Given the description of an element on the screen output the (x, y) to click on. 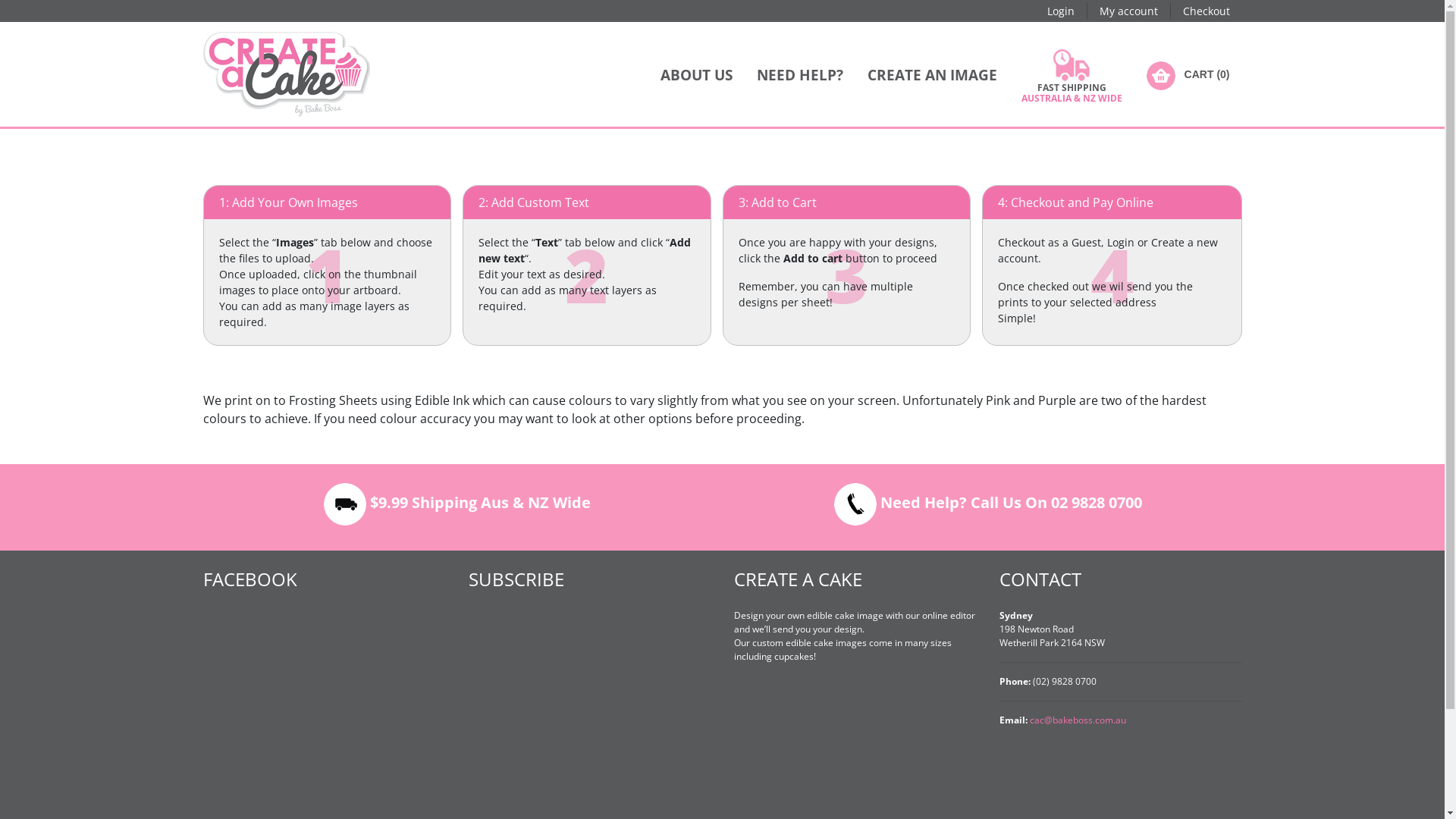
ABOUT US Element type: text (696, 74)
My account Element type: text (1128, 10)
FAST SHIPPING
AUSTRALIA & NZ WIDE Element type: text (1071, 74)
CART (0) Element type: text (1188, 74)
Checkout Element type: text (1206, 10)
cac@bakeboss.com.au Element type: text (1077, 719)
NEED HELP? Element type: text (799, 74)
CREATE AN IMAGE Element type: text (932, 74)
Login Element type: text (1059, 10)
